Given the description of an element on the screen output the (x, y) to click on. 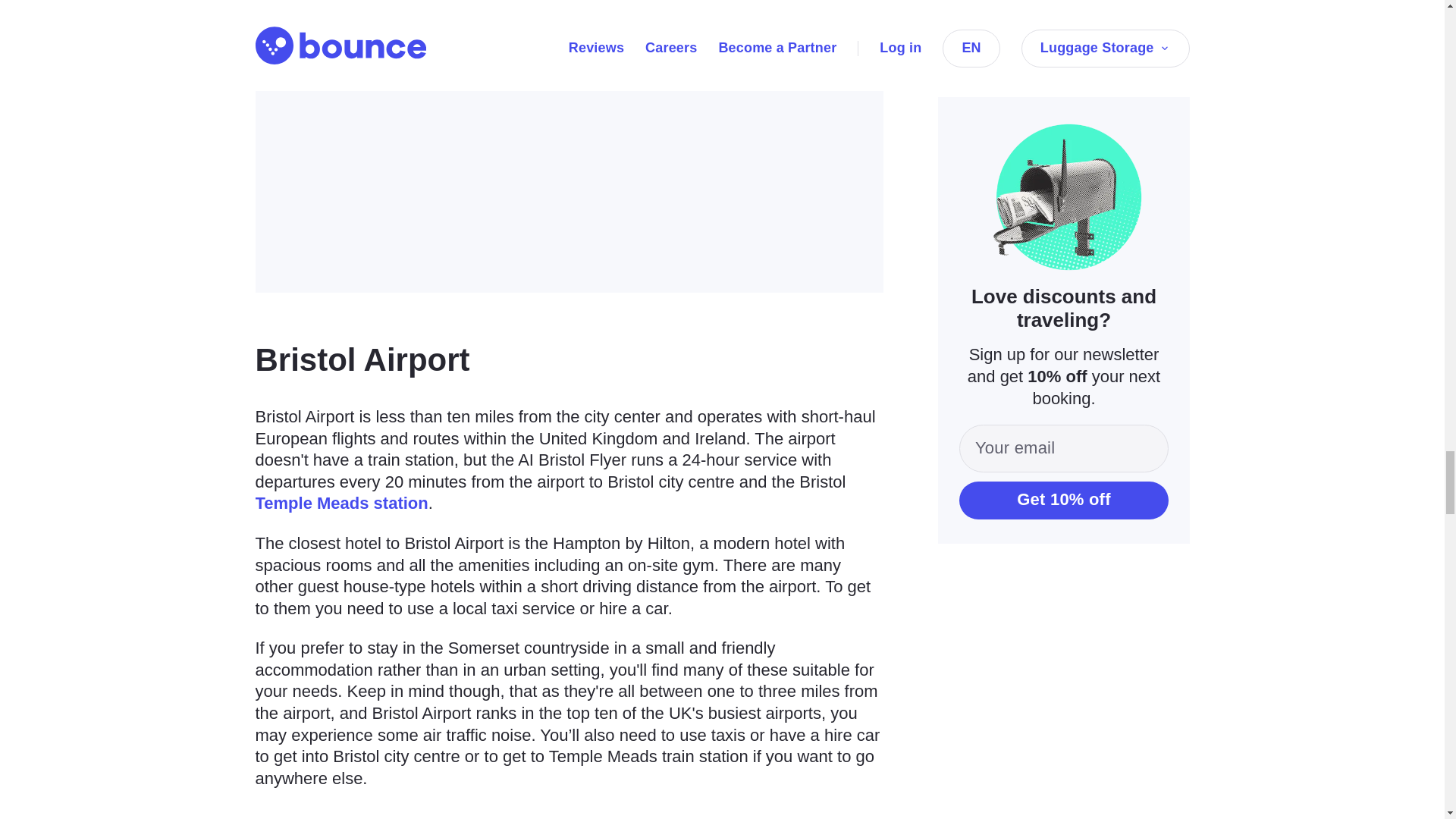
Temple Meads station (341, 502)
